Given the description of an element on the screen output the (x, y) to click on. 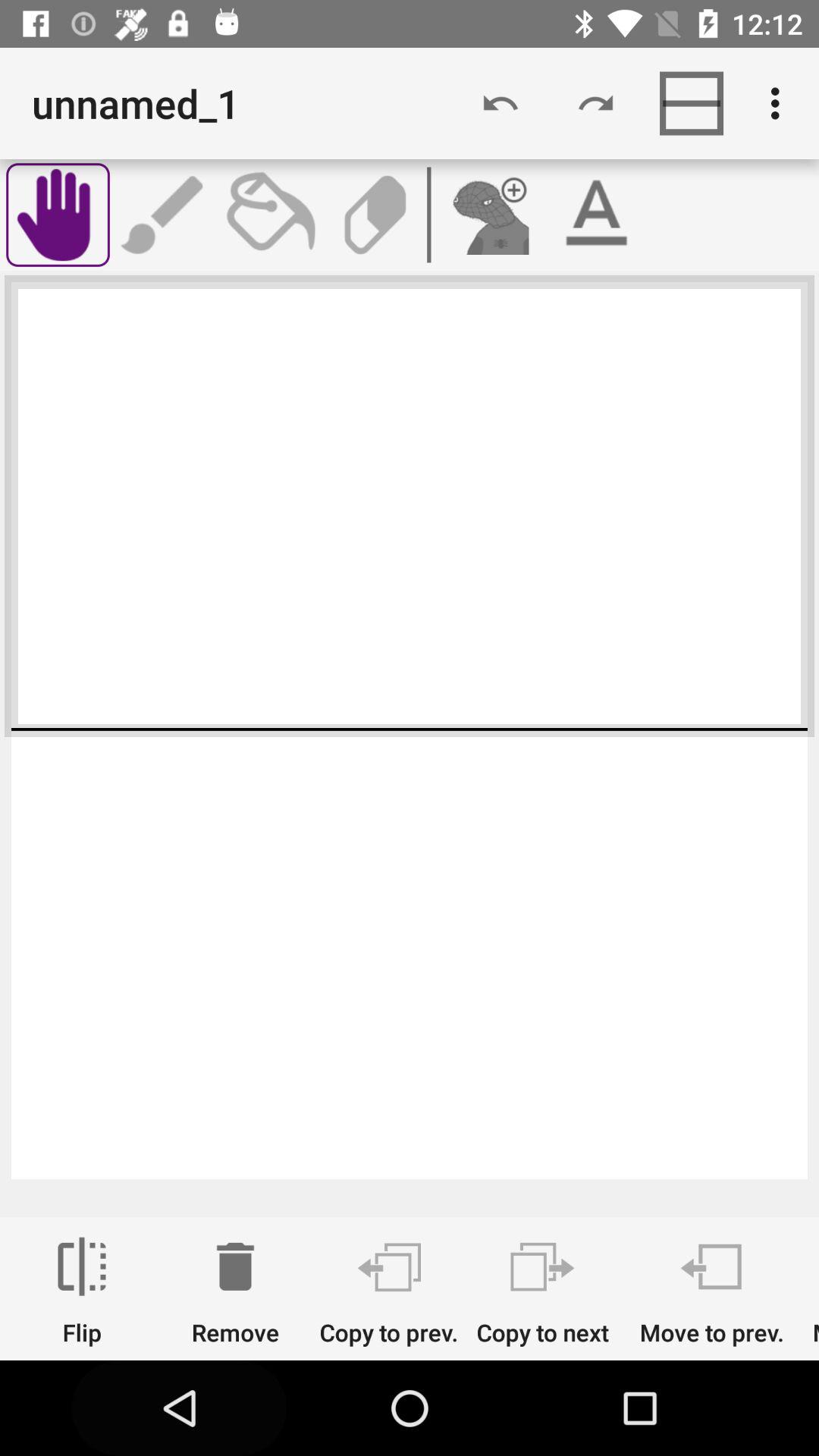
flip to remove item (235, 1291)
